Given the description of an element on the screen output the (x, y) to click on. 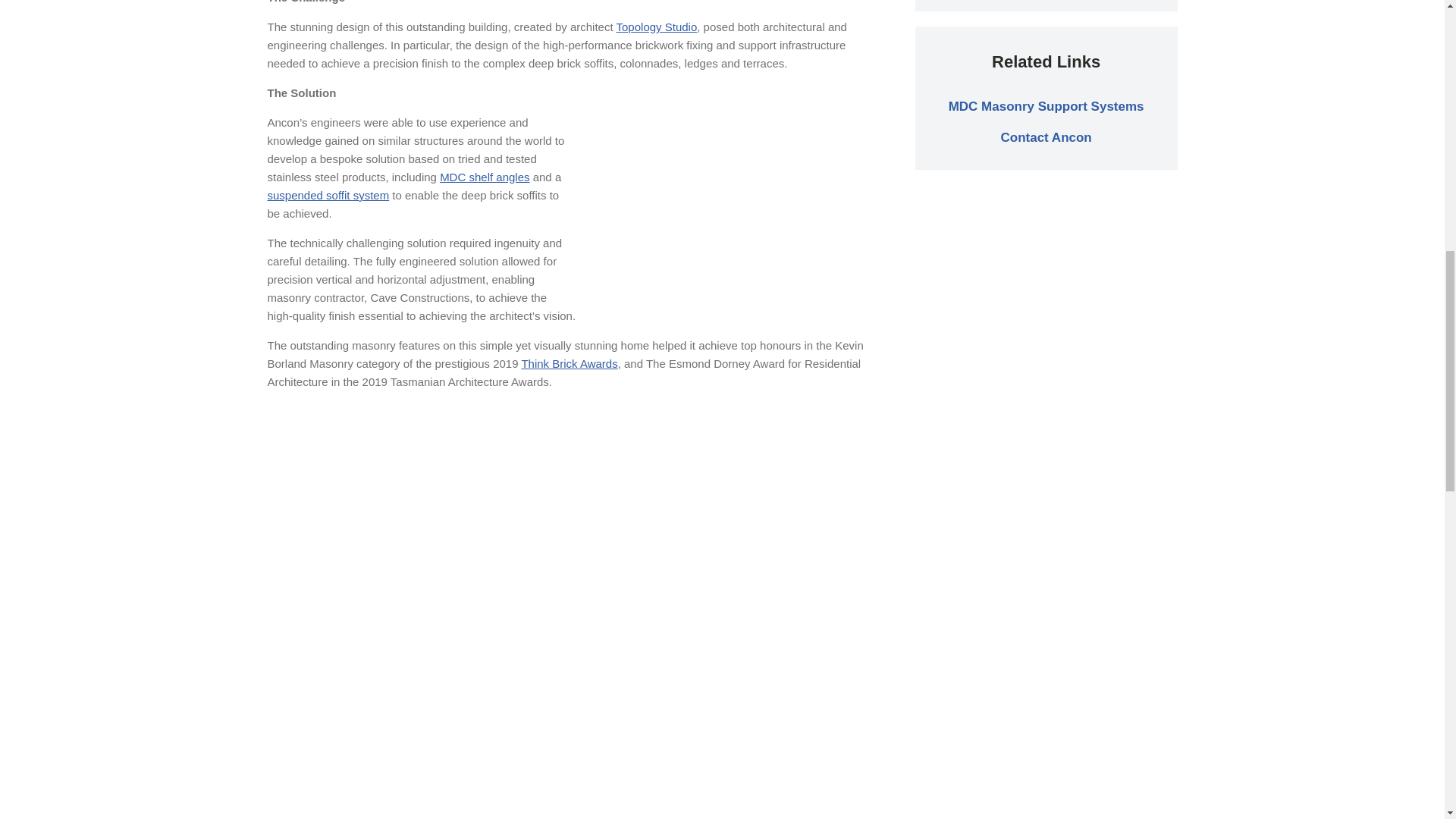
suspended soffit system (327, 195)
Think Brick Awards (569, 363)
Contact Ancon (1045, 137)
MDC Masonry Support Systems (1046, 106)
MDC shelf angles (484, 176)
Topology Studio (656, 26)
